Given the description of an element on the screen output the (x, y) to click on. 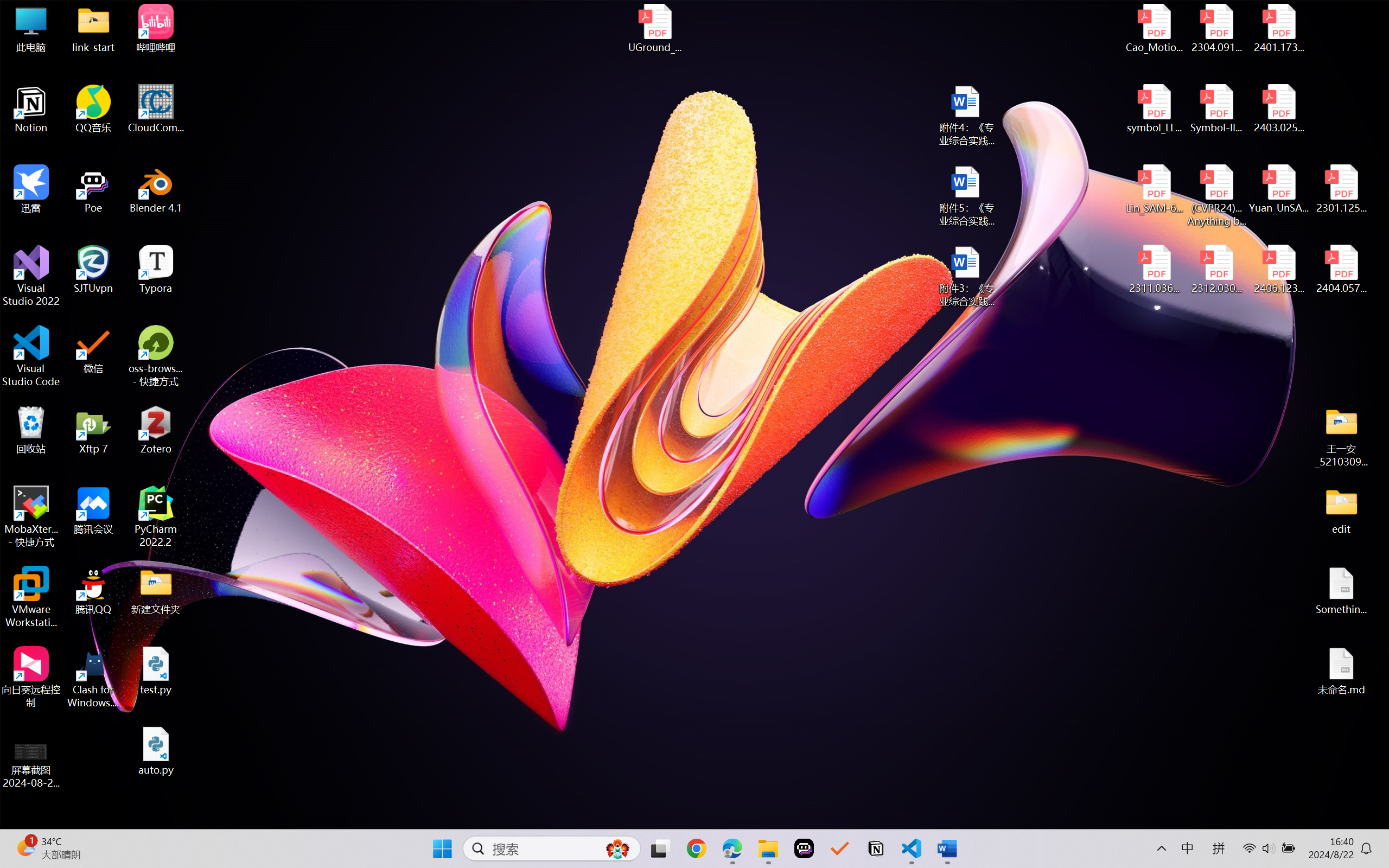
2304.09121v3.pdf (1216, 28)
symbol_LLM.pdf (1154, 109)
Xftp 7 (93, 430)
2406.12373v2.pdf (1278, 269)
Typora (156, 269)
Something.md (1340, 591)
